Given the description of an element on the screen output the (x, y) to click on. 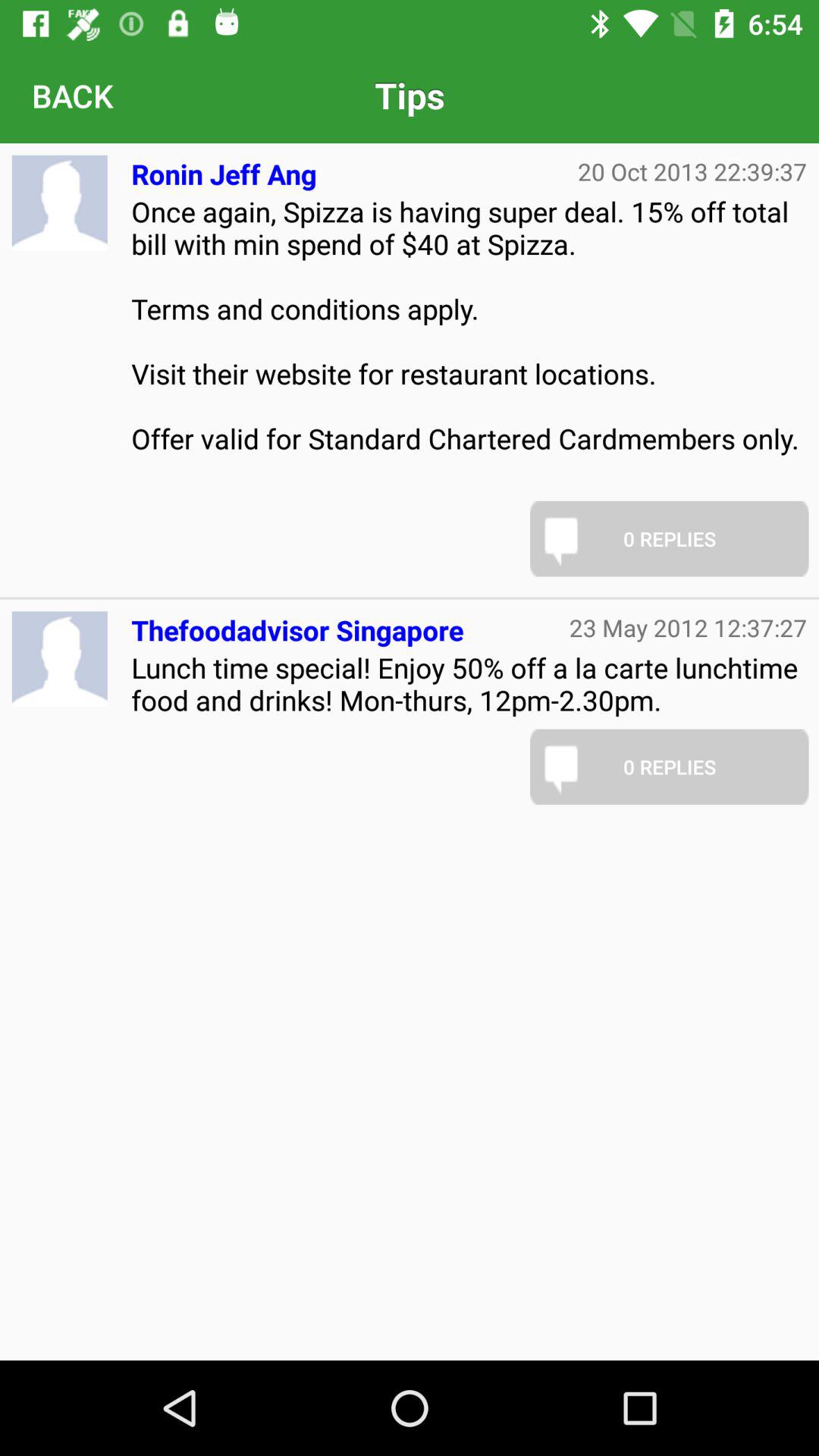
flip until the lunch time special (469, 683)
